Given the description of an element on the screen output the (x, y) to click on. 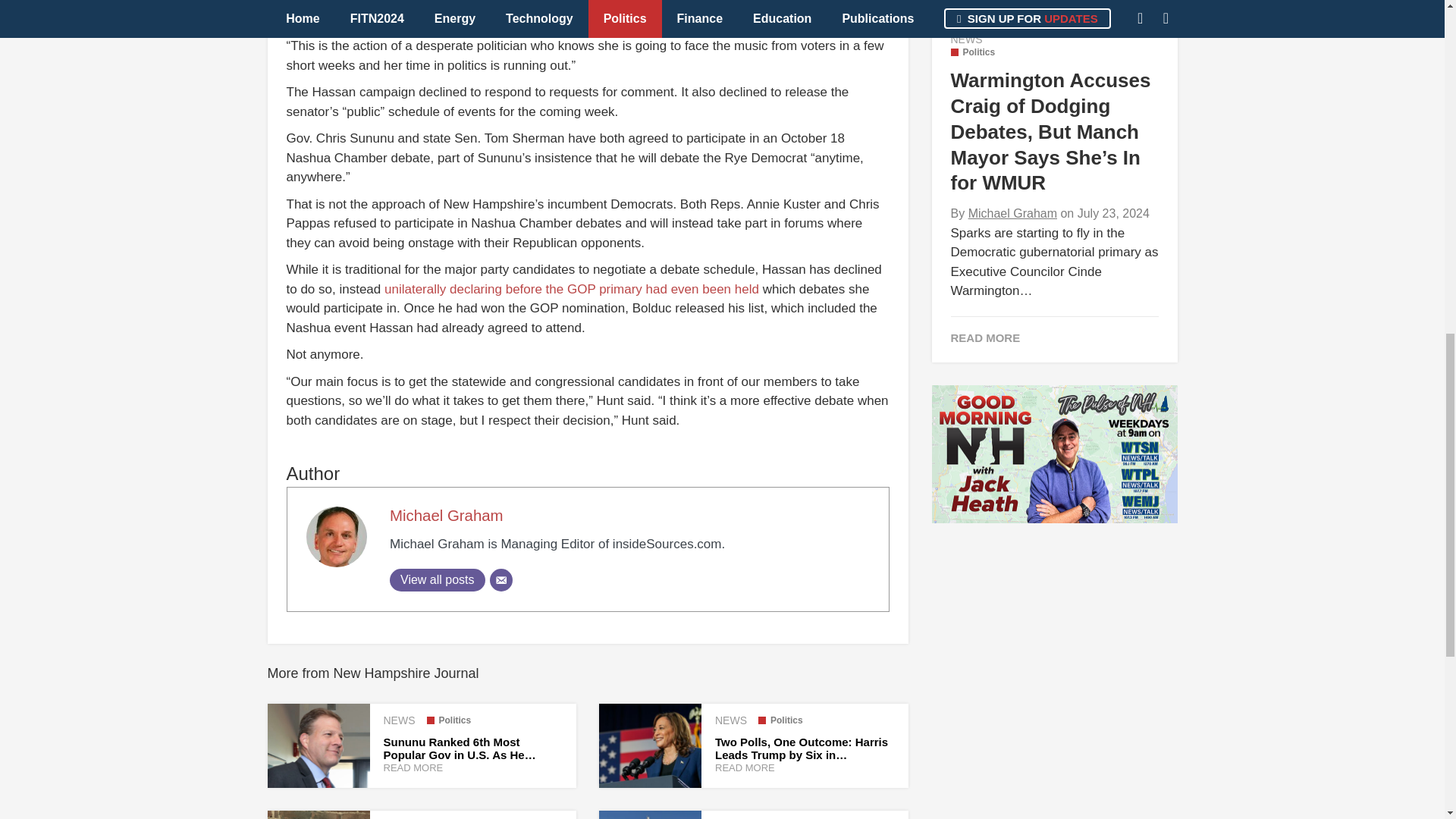
View all posts in Politics (780, 719)
Michael Graham (446, 515)
Michael Graham (446, 515)
Politics (780, 719)
View all posts in Politics (448, 719)
Politics (448, 719)
View all posts (437, 579)
View all posts (437, 579)
